Given the description of an element on the screen output the (x, y) to click on. 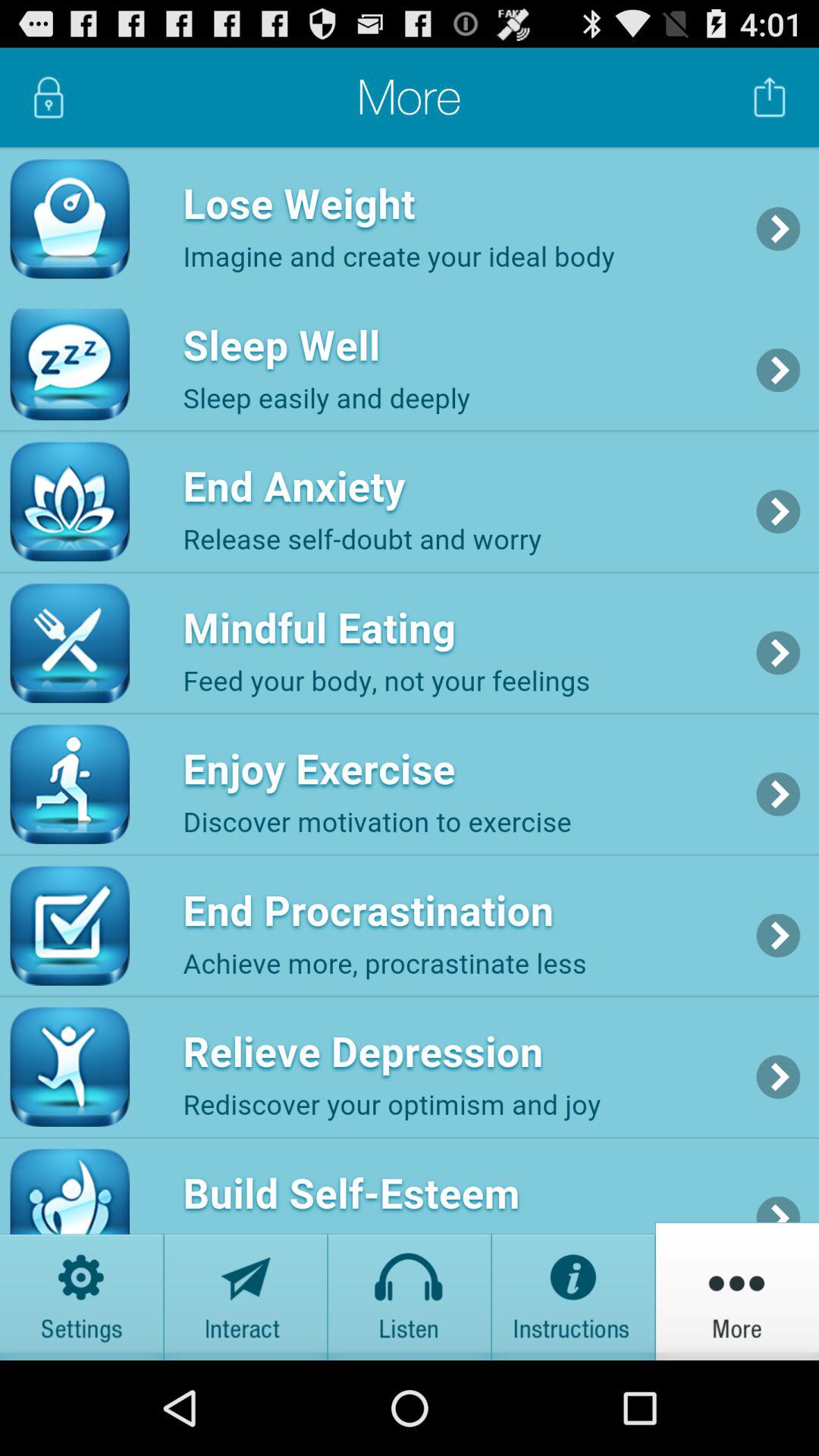
options (81, 1290)
